Given the description of an element on the screen output the (x, y) to click on. 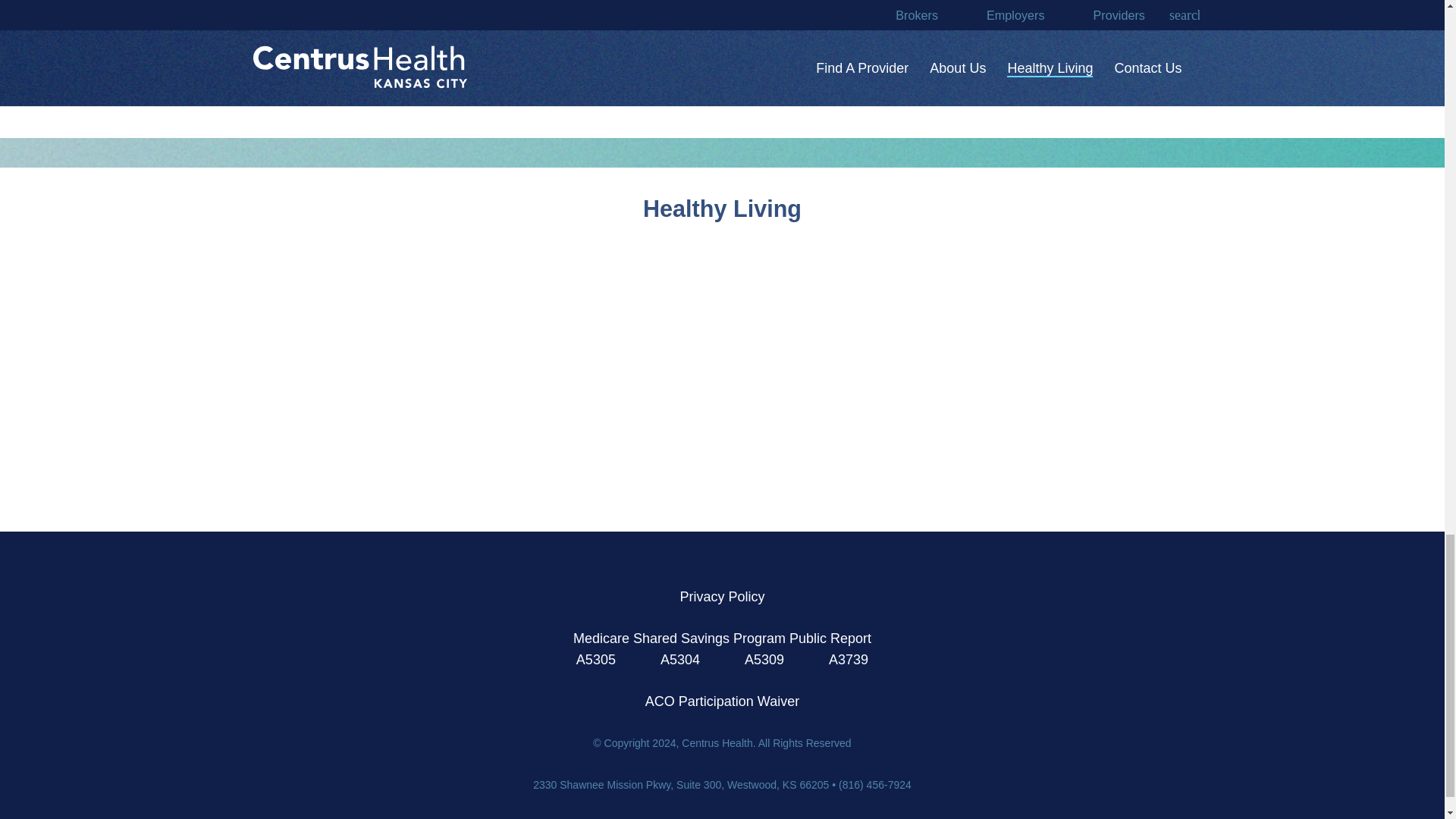
A3739 (847, 659)
ACO Participation Waiver (722, 701)
A5305 (598, 659)
A5304 (680, 659)
Privacy Policy (721, 596)
A5309 (764, 659)
